Given the description of an element on the screen output the (x, y) to click on. 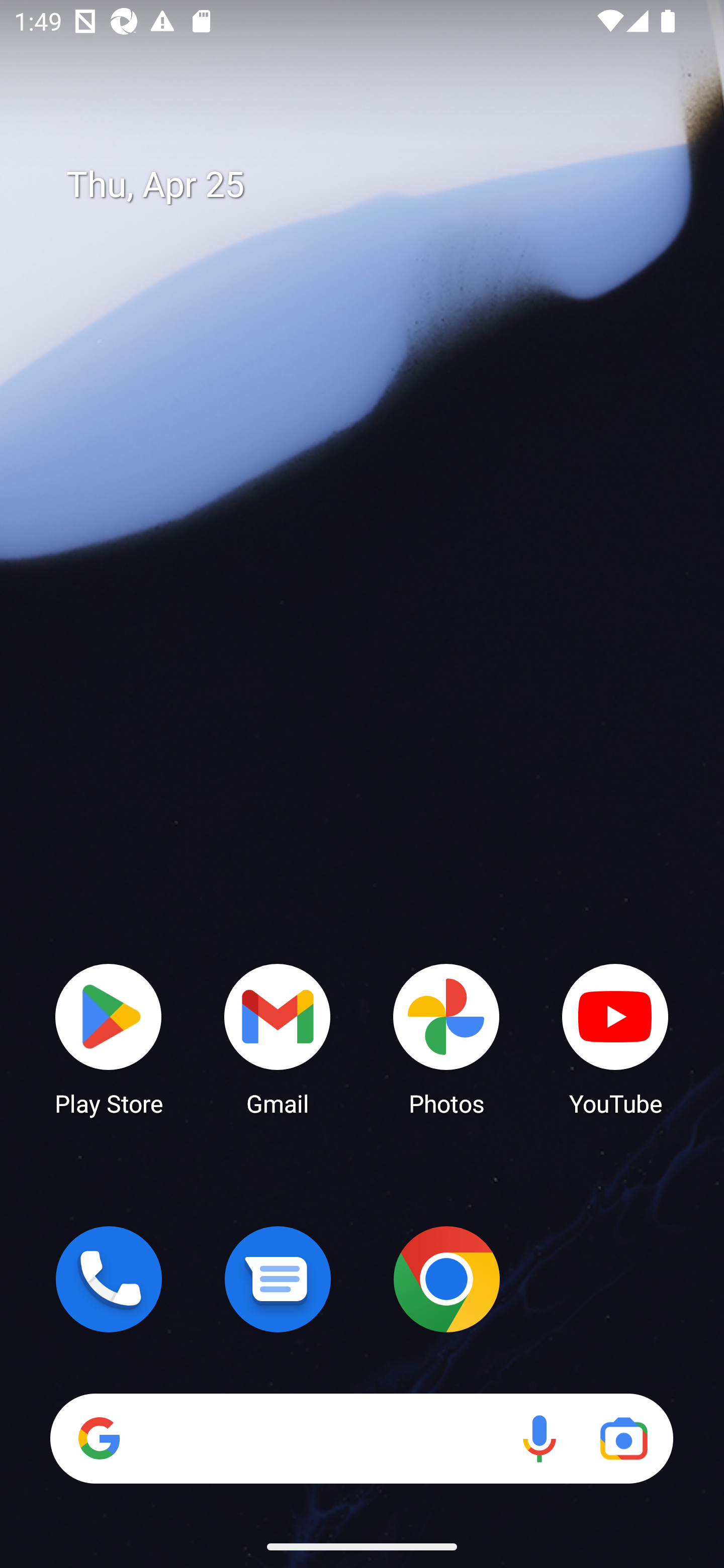
Thu, Apr 25 (375, 184)
Play Store (108, 1038)
Gmail (277, 1038)
Photos (445, 1038)
YouTube (615, 1038)
Phone (108, 1279)
Messages (277, 1279)
Chrome (446, 1279)
Search Voice search Google Lens (361, 1438)
Voice search (539, 1438)
Google Lens (623, 1438)
